Given the description of an element on the screen output the (x, y) to click on. 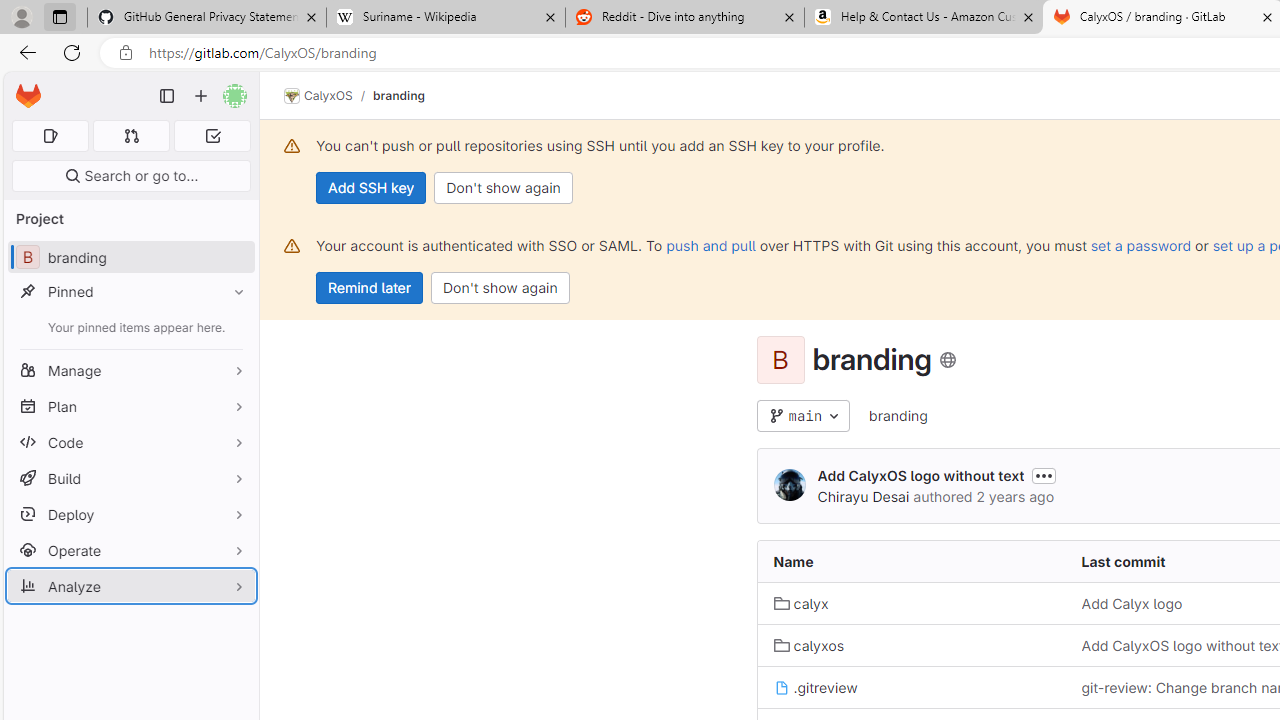
Plan (130, 406)
branding (898, 416)
Class: s16 icon (947, 359)
calyx (911, 602)
Analyze (130, 586)
Operate (130, 550)
.gitreview (815, 686)
Toggle commit description (1044, 475)
Don't show again (500, 287)
calyx (801, 603)
Create new... (201, 96)
Operate (130, 550)
Bbranding (130, 257)
Chirayu Desai's avatar (789, 485)
To-Do list 0 (212, 136)
